Given the description of an element on the screen output the (x, y) to click on. 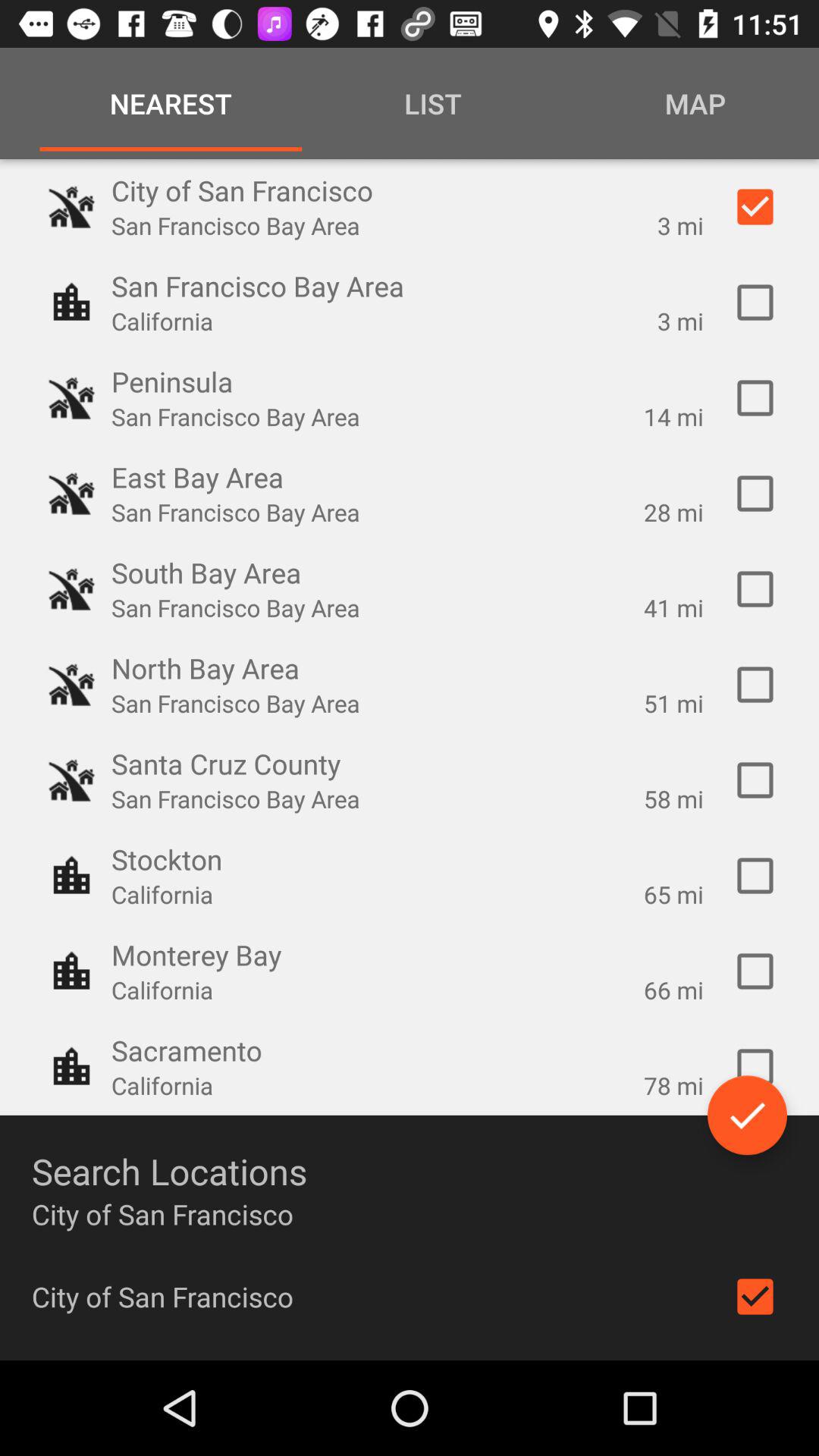
switch location checkbox on (755, 302)
